Given the description of an element on the screen output the (x, y) to click on. 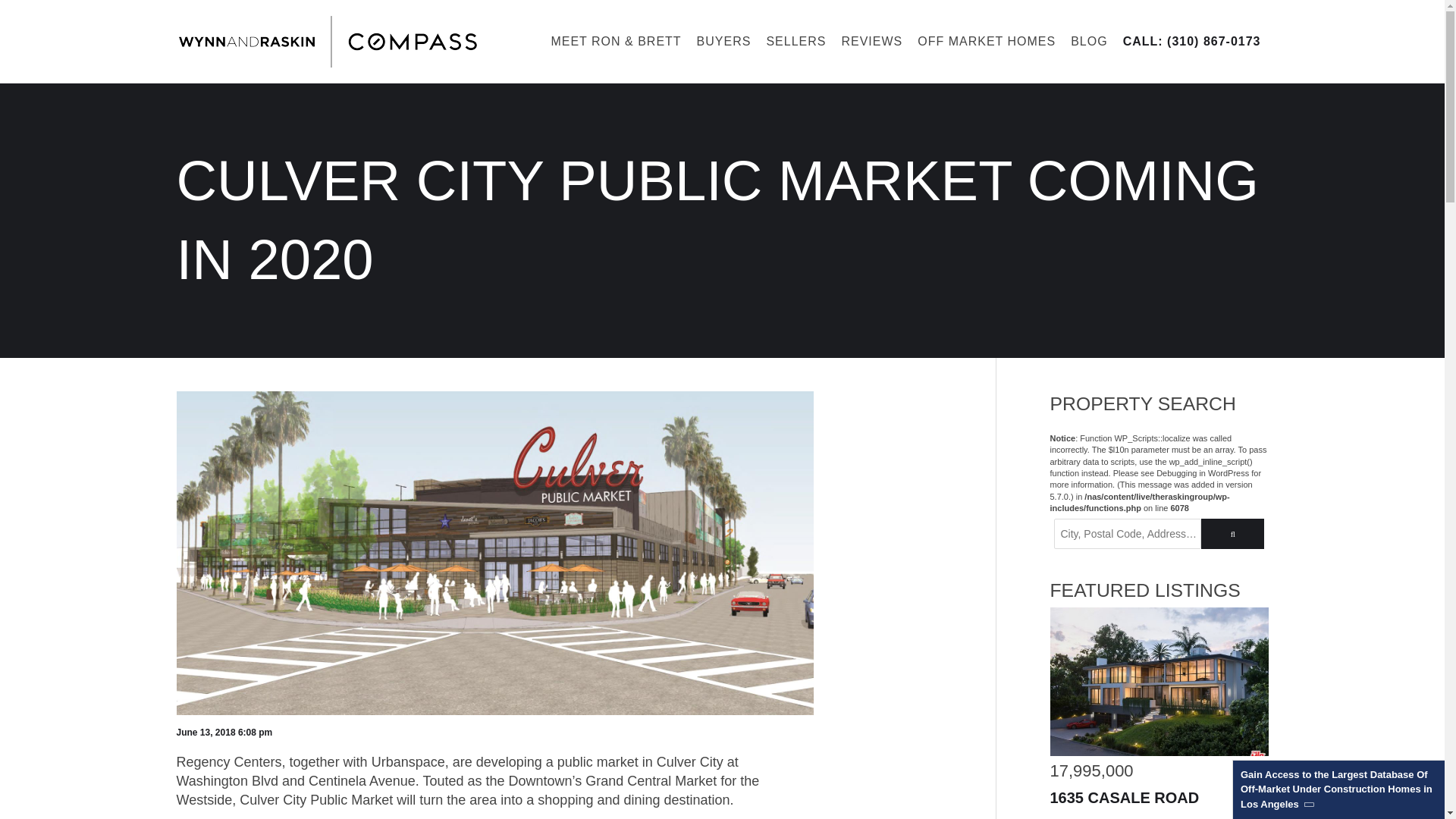
Debugging in WordPress (1202, 472)
REVIEWS (871, 41)
Search (1232, 533)
BUYERS (723, 41)
OFF MARKET HOMES (986, 41)
SELLERS (795, 41)
Culver City Public Market Coming in 2020 (494, 718)
1635 CASALE ROAD (1123, 796)
